Given the description of an element on the screen output the (x, y) to click on. 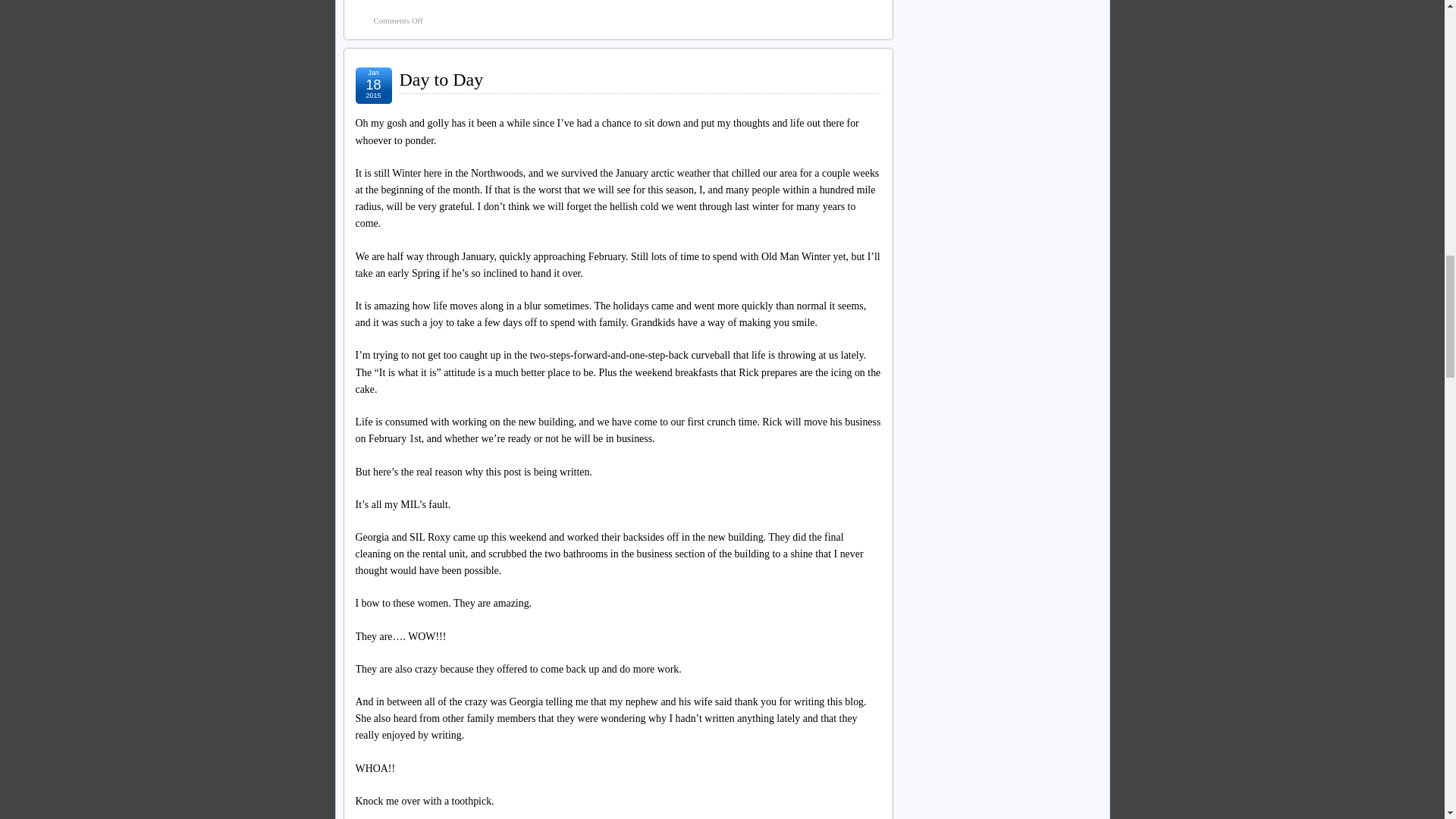
Day to Day (440, 79)
Day to Day (440, 79)
